Given the description of an element on the screen output the (x, y) to click on. 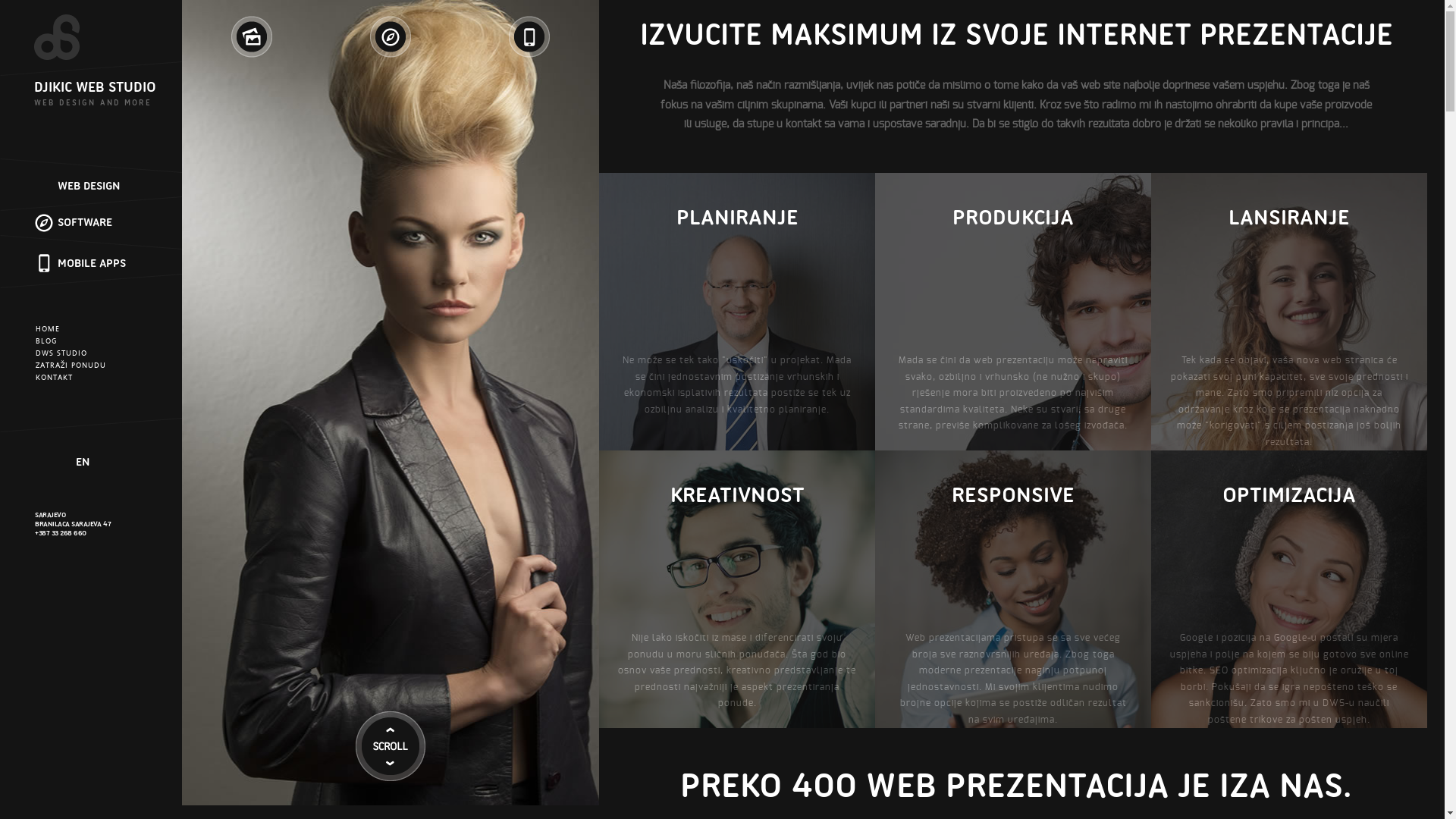
HOME Element type: text (47, 328)
MOBILE APPS Element type: text (91, 262)
DJIKIC WEB STUDIO Element type: text (95, 86)
Software Element type: hover (389, 35)
Mobile apps Element type: hover (529, 35)
Djikic Web Studio Element type: hover (71, 36)
WEB DESIGN AND MORE Element type: text (92, 102)
BLOG Element type: text (46, 340)
WEB DESIGN Element type: text (88, 185)
DWS STUDIO Element type: text (61, 352)
SOFTWARE Element type: text (84, 222)
EN Element type: text (82, 462)
KONTAKT Element type: text (53, 377)
Web design Element type: hover (251, 35)
Like our Facebook page Element type: hover (46, 462)
